Given the description of an element on the screen output the (x, y) to click on. 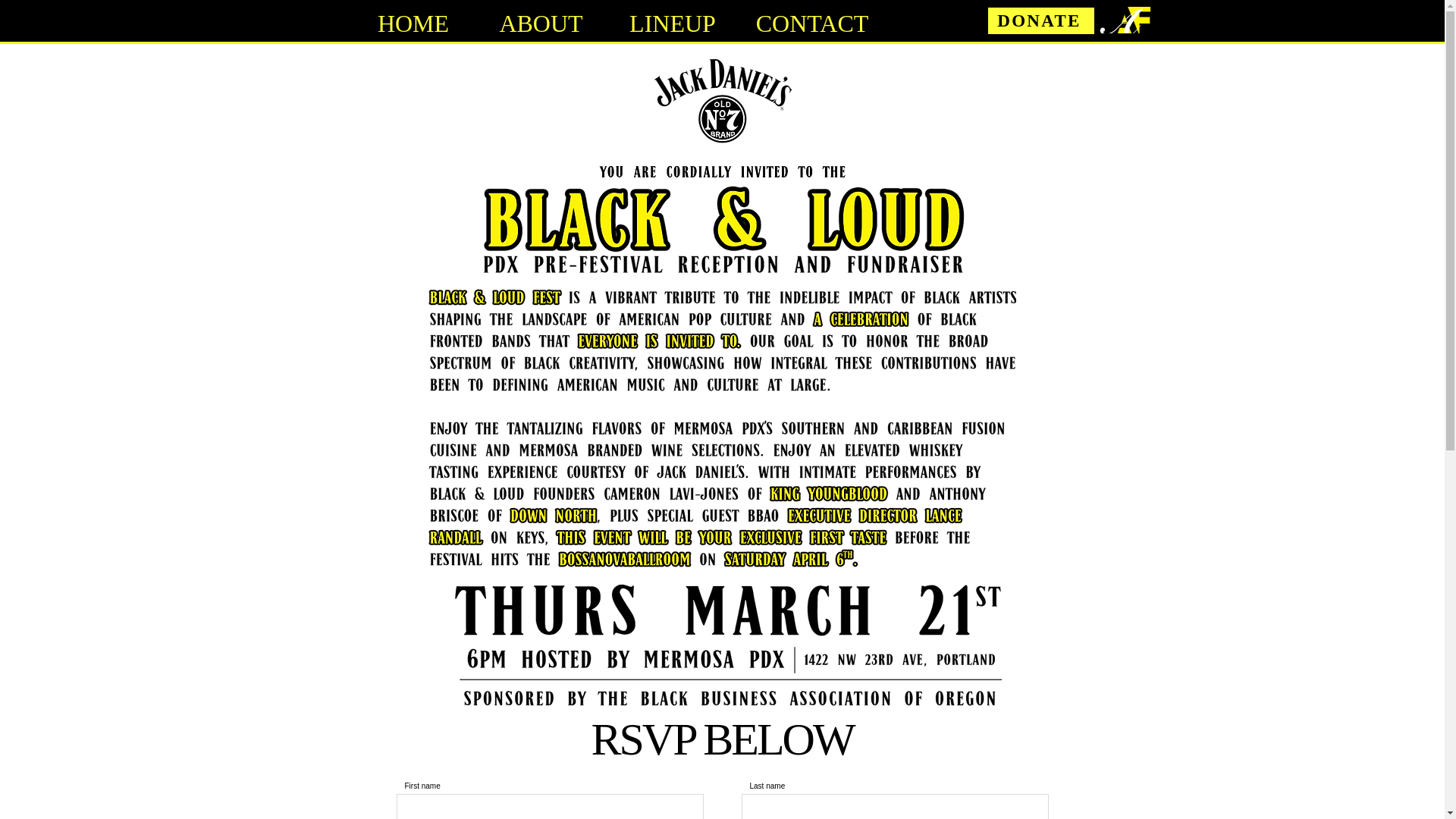
DONATE (1040, 20)
CONTACT (811, 17)
LINEUP (673, 17)
ABOUT (541, 17)
HOME (413, 17)
